Given the description of an element on the screen output the (x, y) to click on. 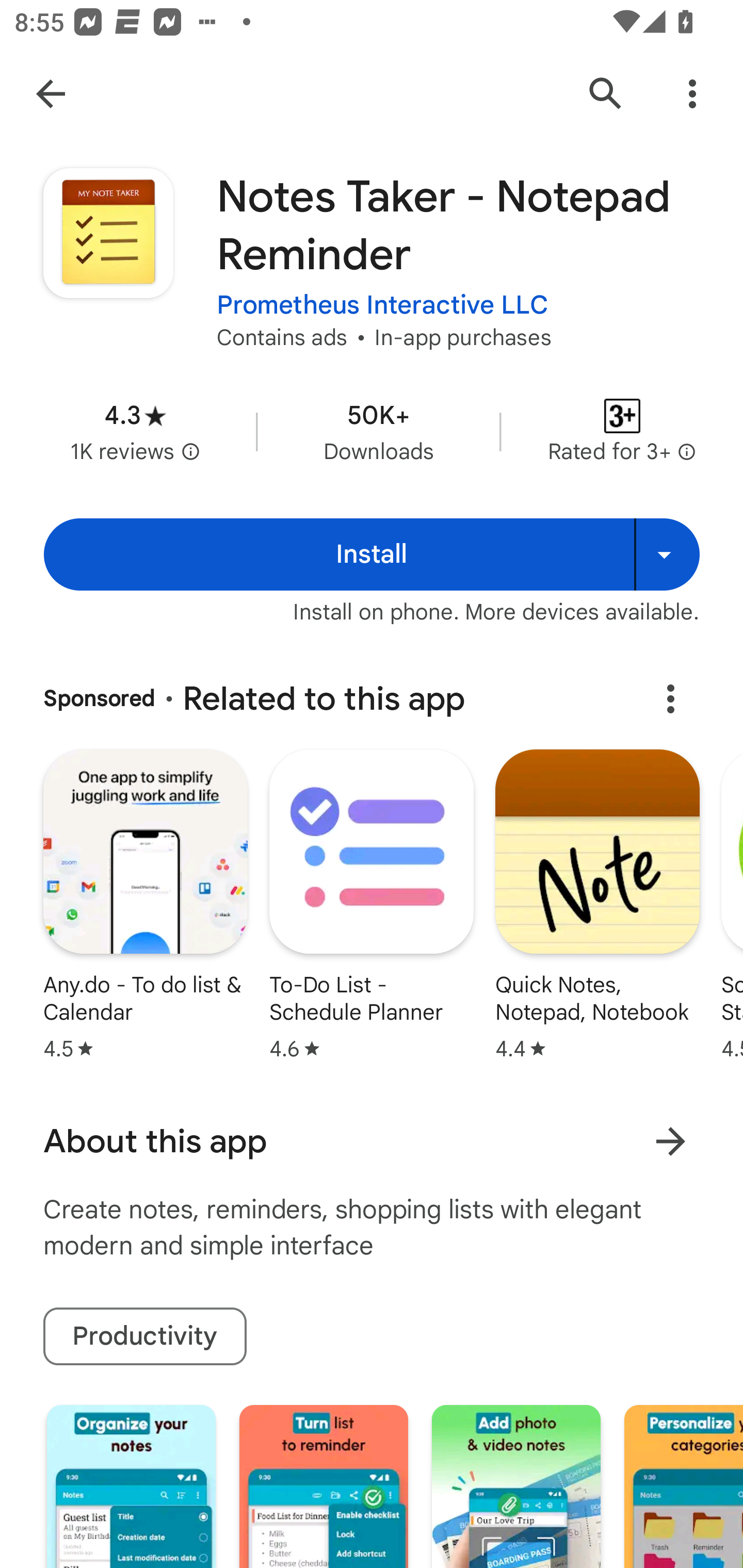
Navigate up (50, 93)
Search Google Play (605, 93)
More Options (692, 93)
Prometheus Interactive LLC (382, 304)
Average rating 4.3 stars in 1 thousand reviews (135, 431)
Content rating Rated for 3+ (622, 431)
Install Install Install on more devices (371, 554)
Install on more devices (667, 554)
About this ad (670, 698)
Any.do - To do list & Calendar
Star rating: 4.5
 (145, 906)
To-Do List - Schedule Planner
Star rating: 4.6
 (371, 906)
Quick Notes, Notepad, Notebook
Star rating: 4.4
 (597, 906)
About this app Learn more About this app (371, 1141)
Learn more About this app (670, 1141)
Productivity tag (144, 1336)
Screenshot "1" of "8" (130, 1486)
Screenshot "2" of "8" (323, 1486)
Screenshot "3" of "8" (515, 1486)
Screenshot "4" of "8" (683, 1486)
